Given the description of an element on the screen output the (x, y) to click on. 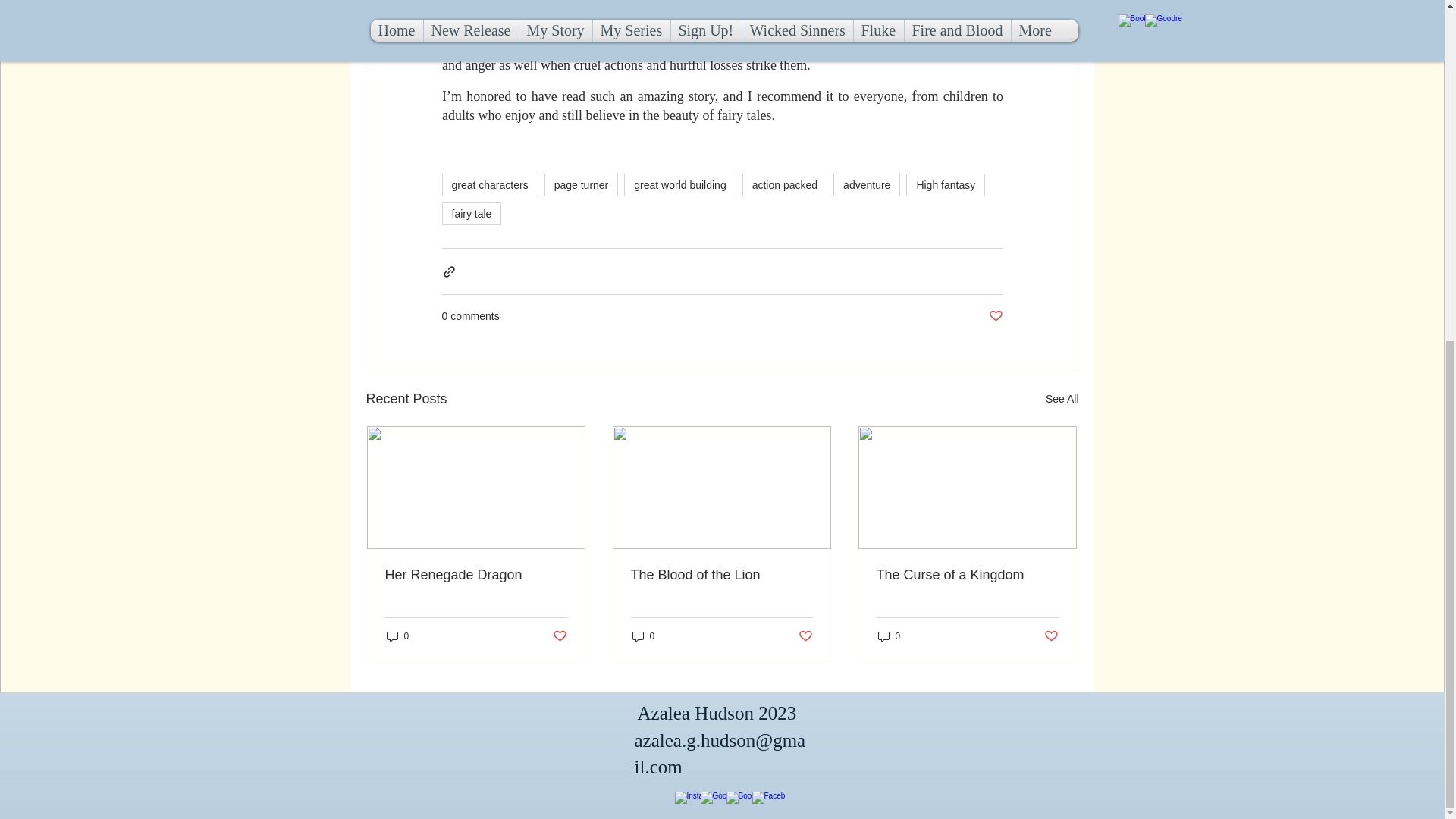
adventure (865, 184)
action packed (784, 184)
0 (397, 636)
High fantasy (945, 184)
Her Renegade Dragon (476, 575)
Post not marked as liked (558, 636)
See All (1061, 399)
great world building (679, 184)
page turner (581, 184)
great characters (489, 184)
Post not marked as liked (995, 316)
fairy tale (470, 213)
